Given the description of an element on the screen output the (x, y) to click on. 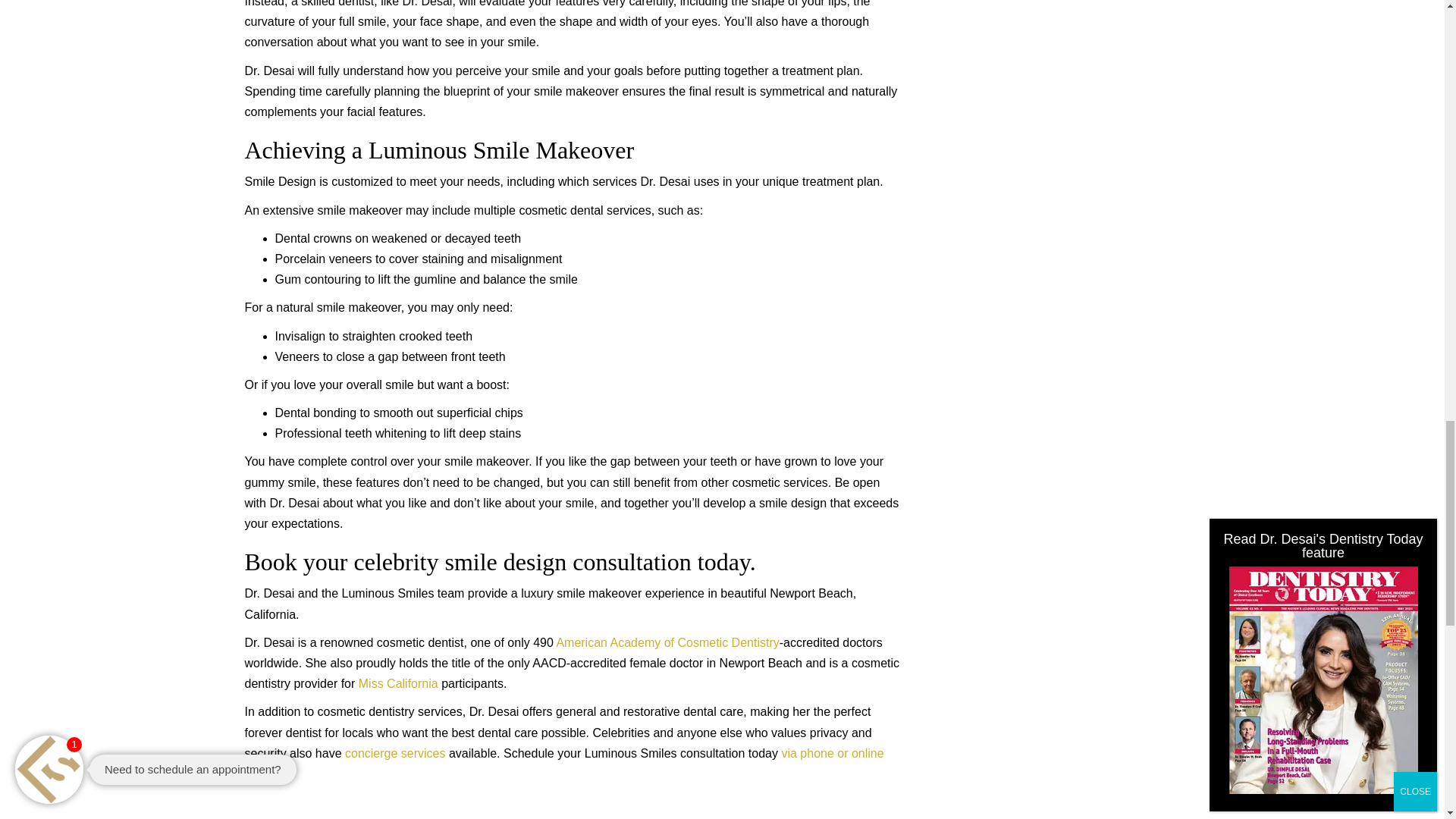
American Academy of Cosmetic Dentistry (667, 642)
Miss California (398, 683)
concierge services (395, 753)
via phone or online request (563, 763)
